Given the description of an element on the screen output the (x, y) to click on. 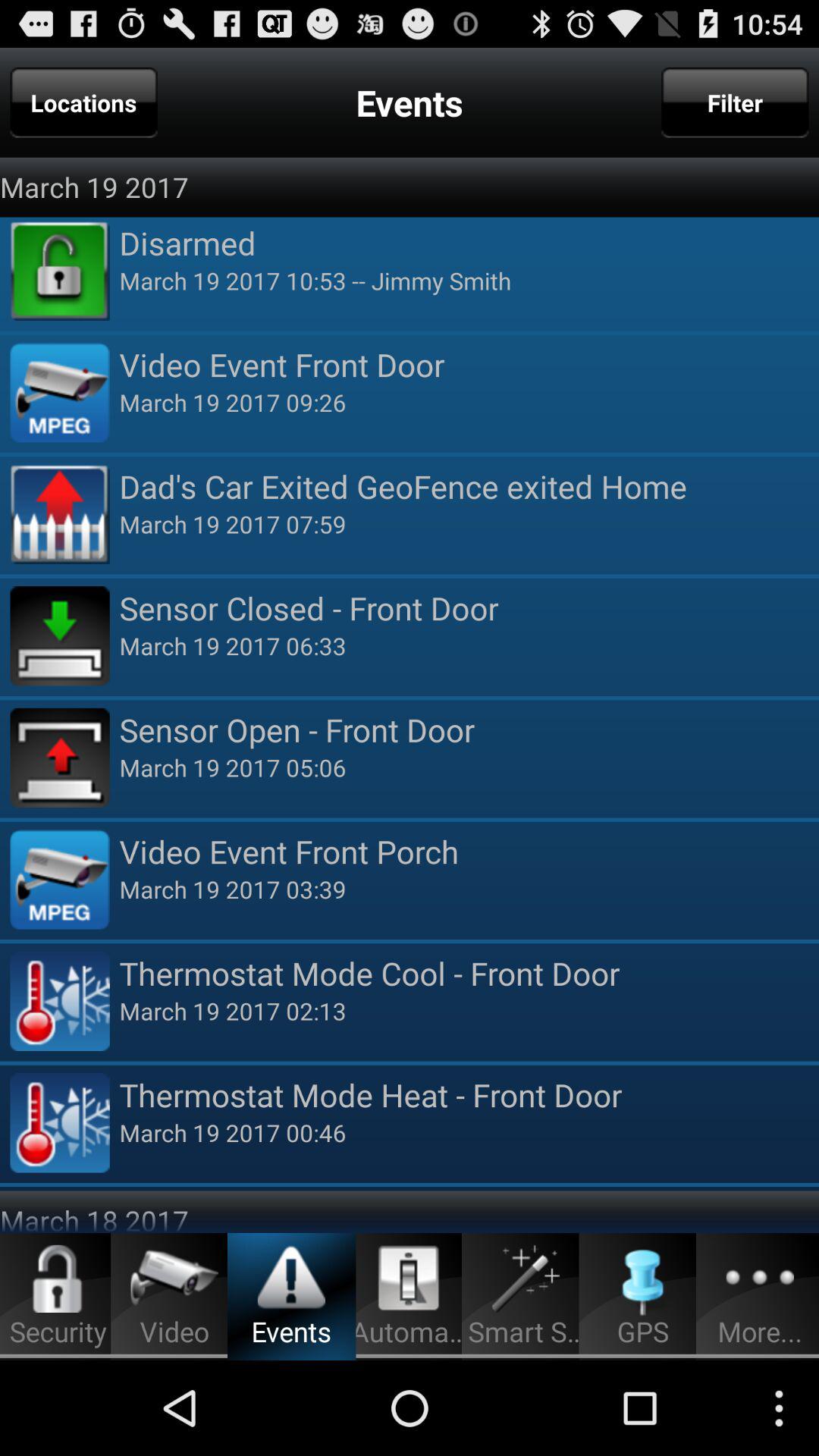
select the item at the top right corner (734, 102)
